Given the description of an element on the screen output the (x, y) to click on. 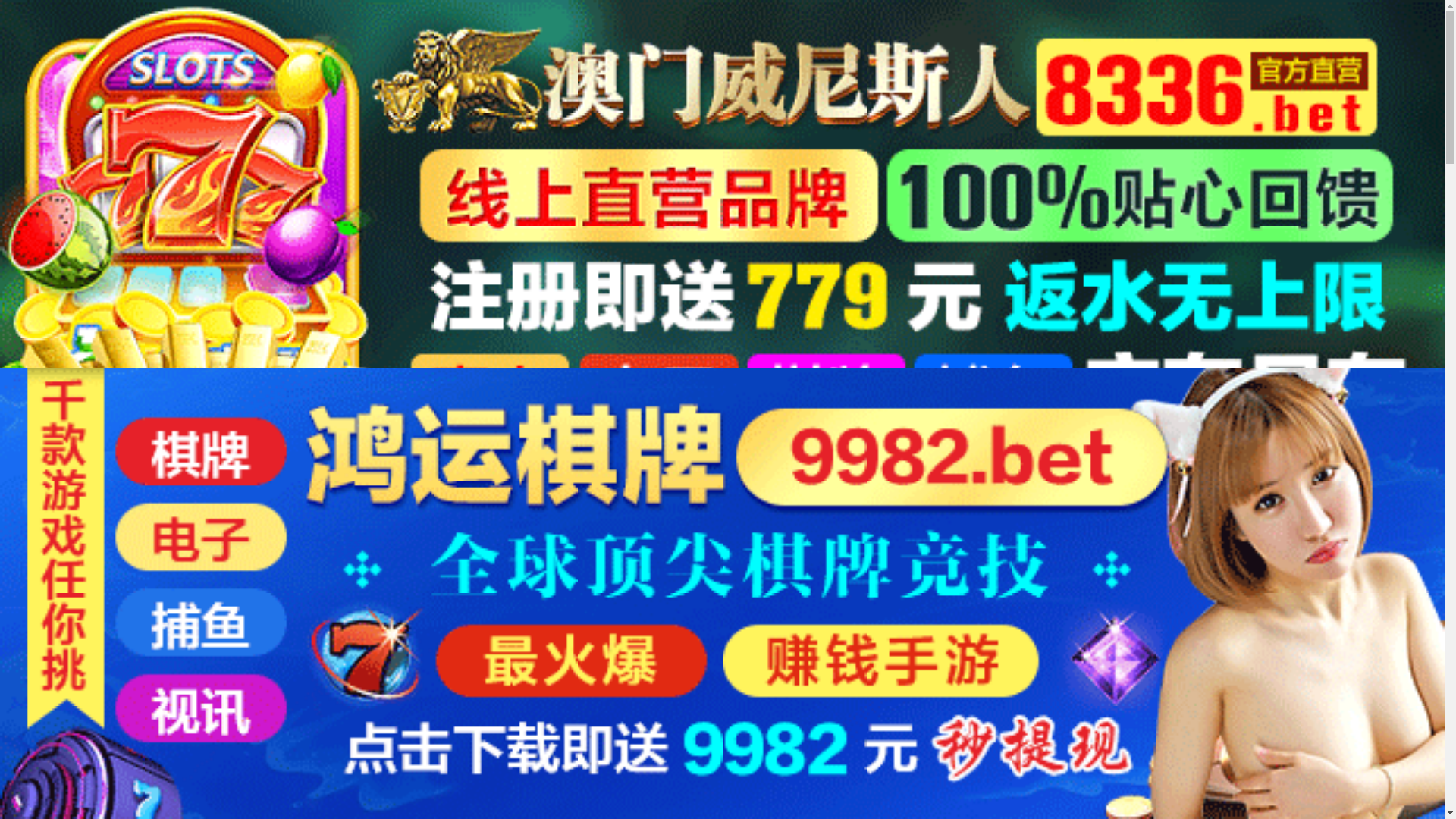
91TV Element type: hover (1240, 593)
